Given the description of an element on the screen output the (x, y) to click on. 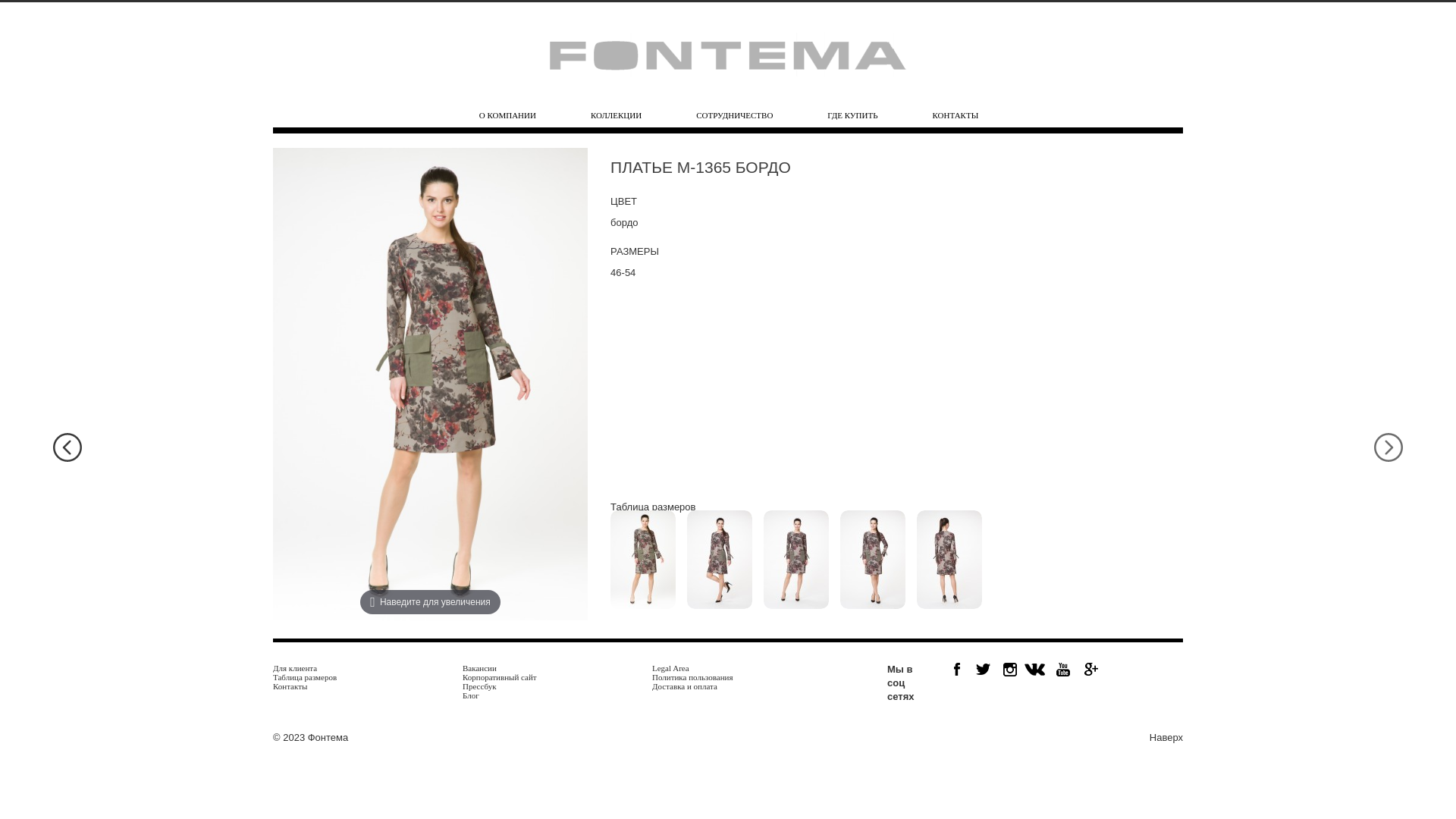
Plate 1365 R-r 46-54 Bordo 3 Element type: hover (795, 559)
Plate 1365 R-r 46-54 Bordo 2 Element type: hover (719, 559)
Plate 1365 R-r 46-54 Bordo 5 Element type: hover (949, 559)
Plate 1365 R-r 46-54 Bordo 1 Element type: hover (642, 559)
Plate 1365 R-r 46-54 Bordo 4 Element type: hover (872, 559)
